Given the description of an element on the screen output the (x, y) to click on. 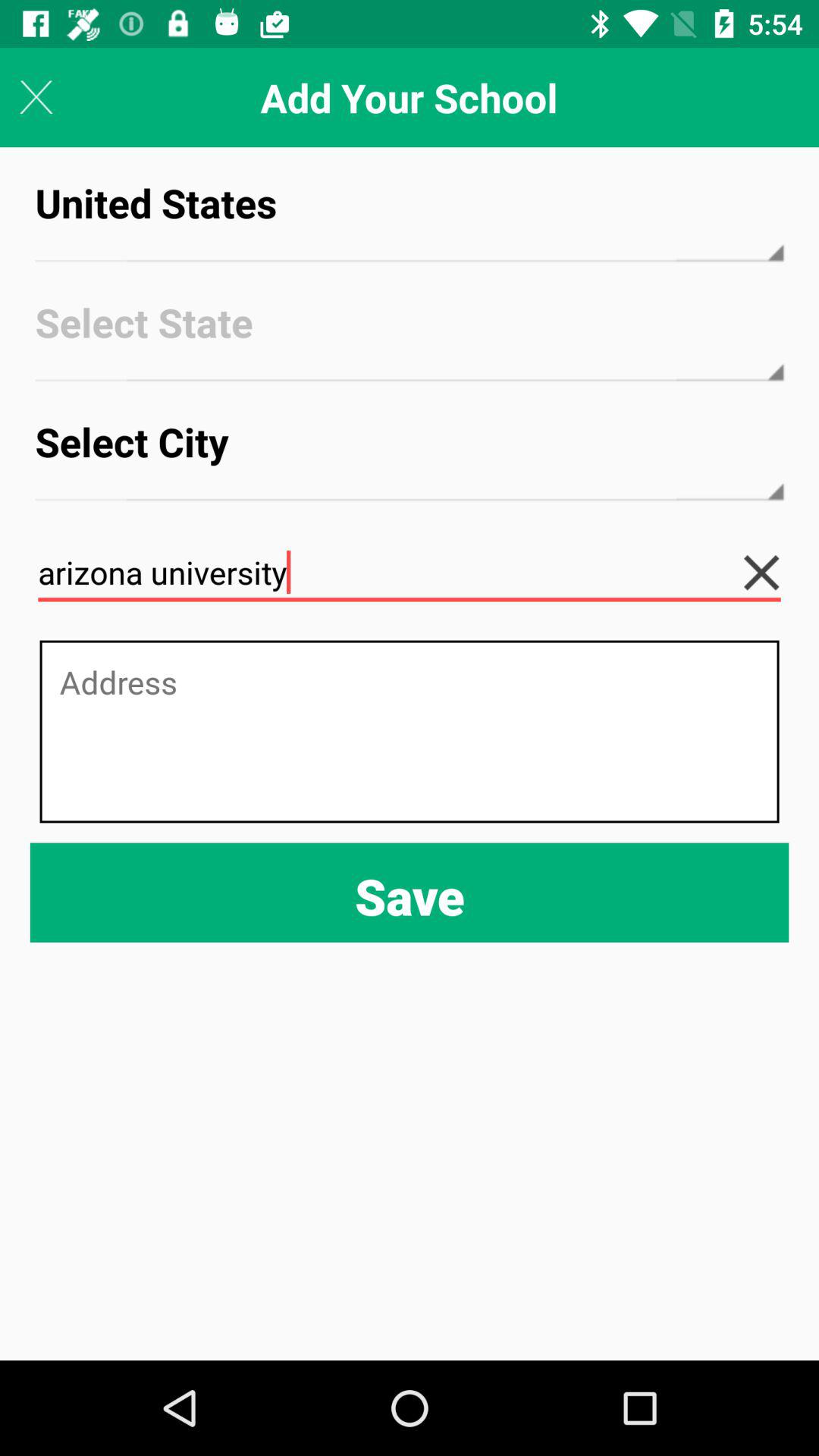
turn on icon below the add your school icon (409, 216)
